Given the description of an element on the screen output the (x, y) to click on. 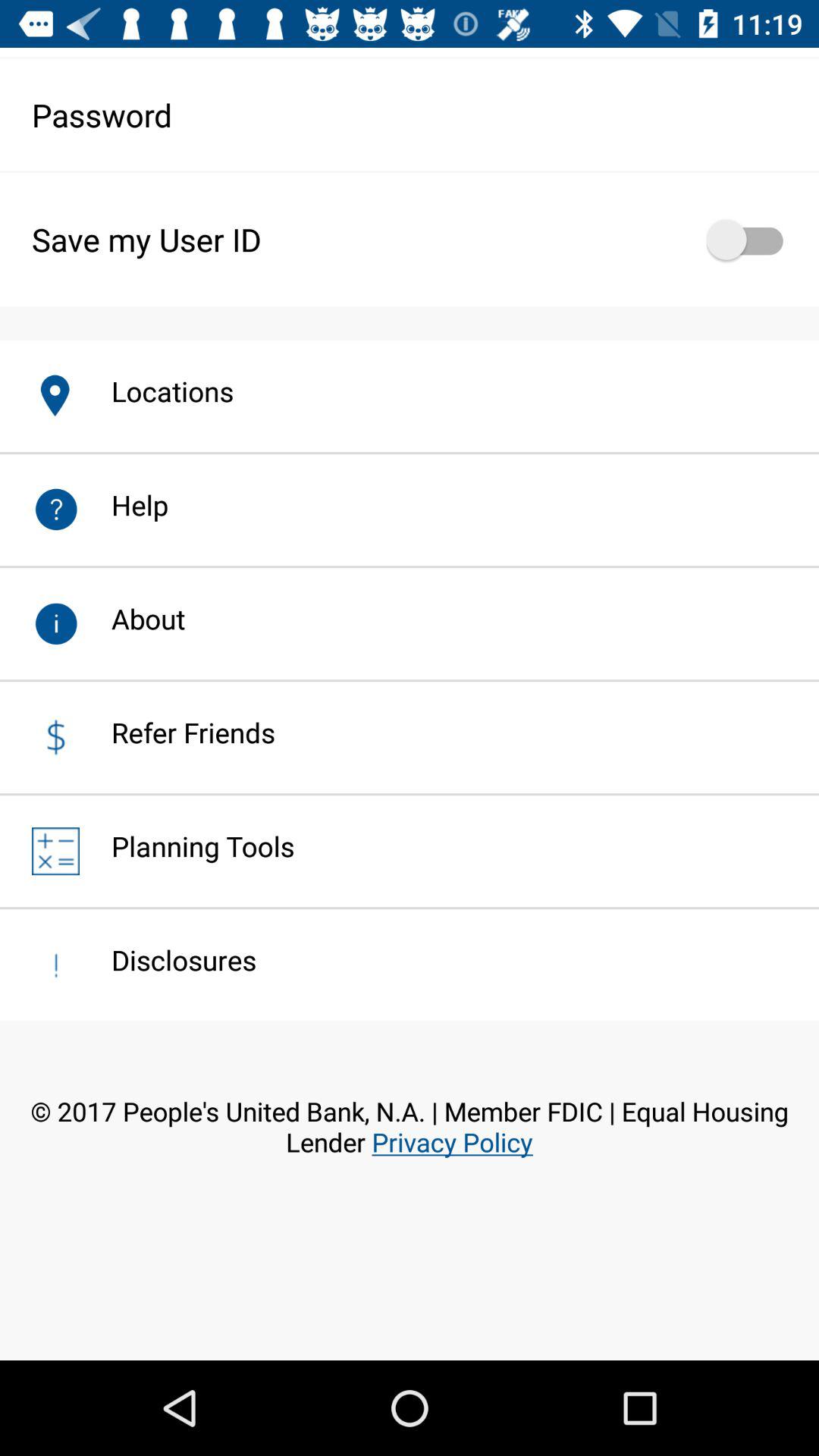
tap refer friends icon (177, 732)
